Given the description of an element on the screen output the (x, y) to click on. 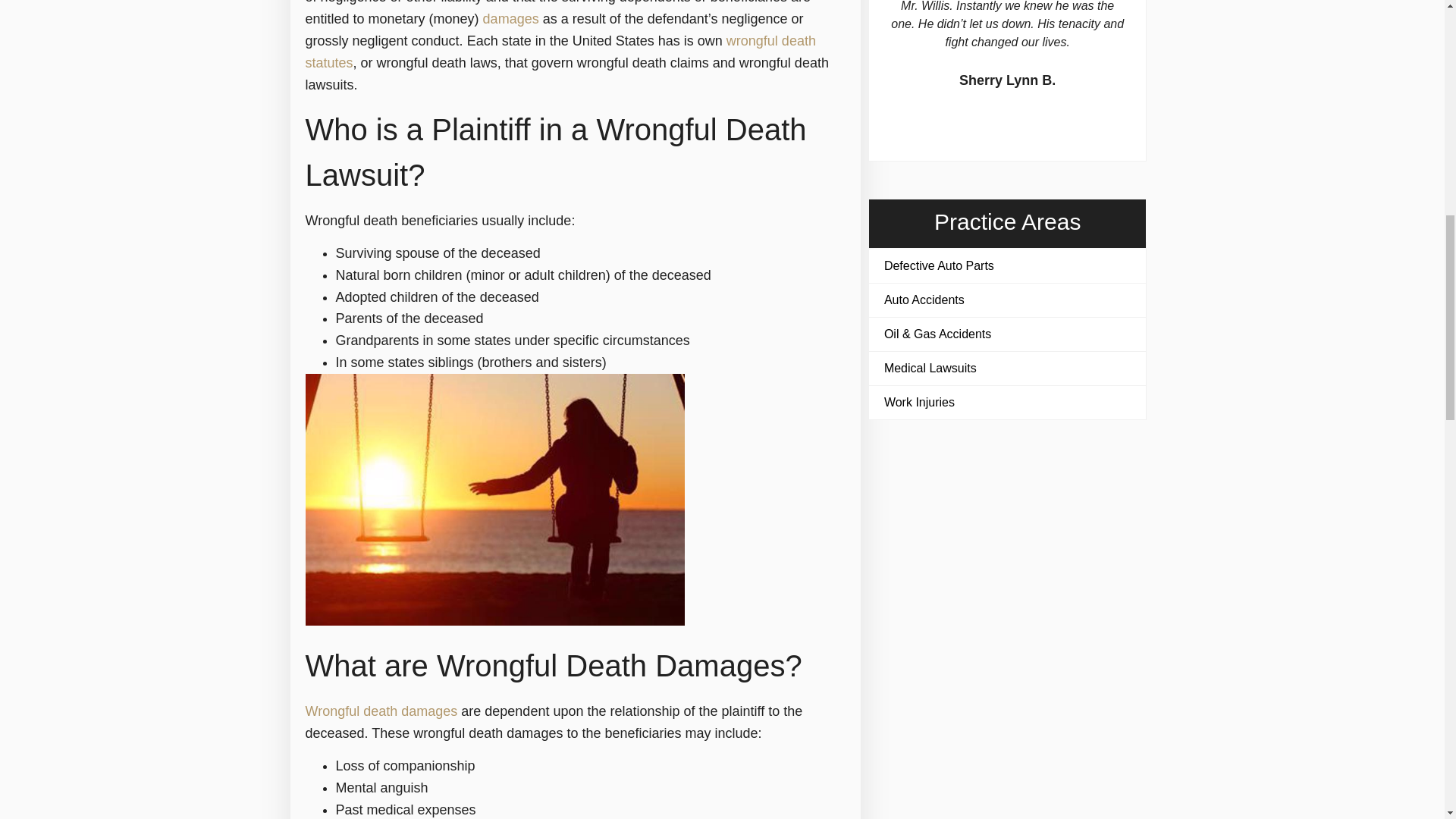
damages (510, 18)
Houston Wrongful Death Lawyer 1 (494, 499)
wrongful death statutes (559, 51)
